Given the description of an element on the screen output the (x, y) to click on. 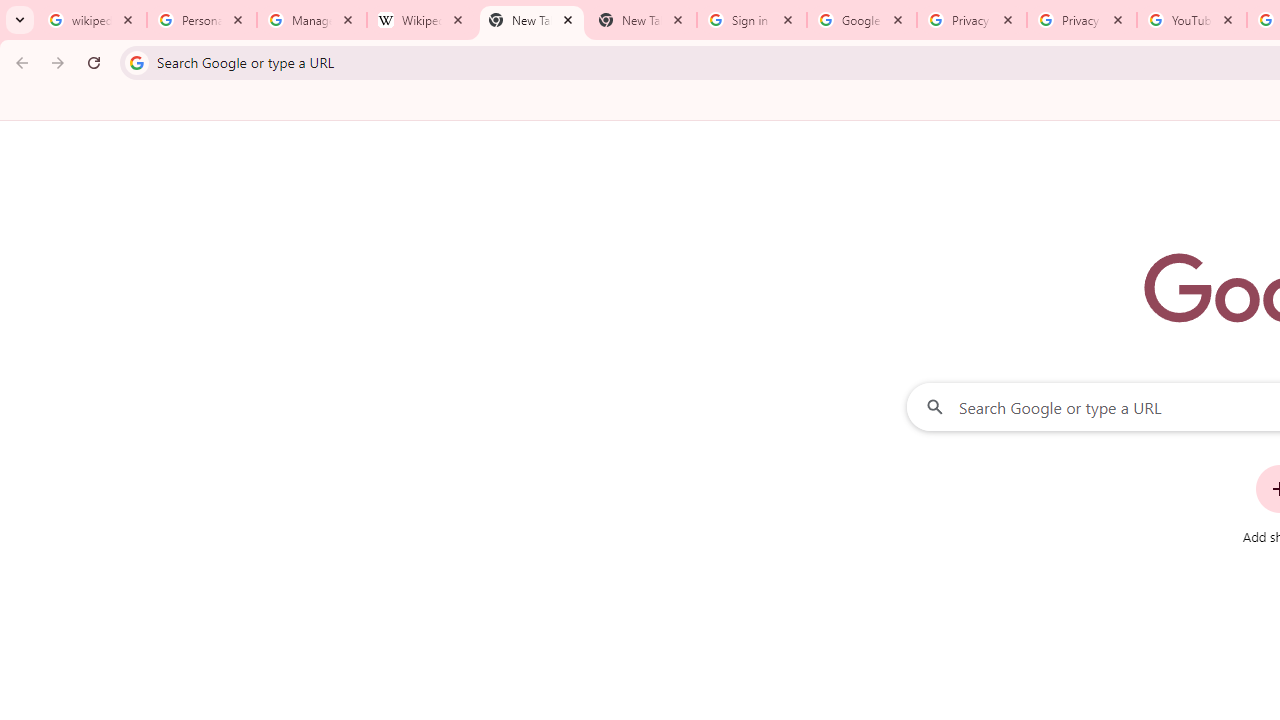
Manage your Location History - Google Search Help (312, 20)
YouTube (1191, 20)
Personalization & Google Search results - Google Search Help (202, 20)
Wikipedia:Edit requests - Wikipedia (422, 20)
Search icon (136, 62)
Sign in - Google Accounts (752, 20)
New Tab (642, 20)
